Given the description of an element on the screen output the (x, y) to click on. 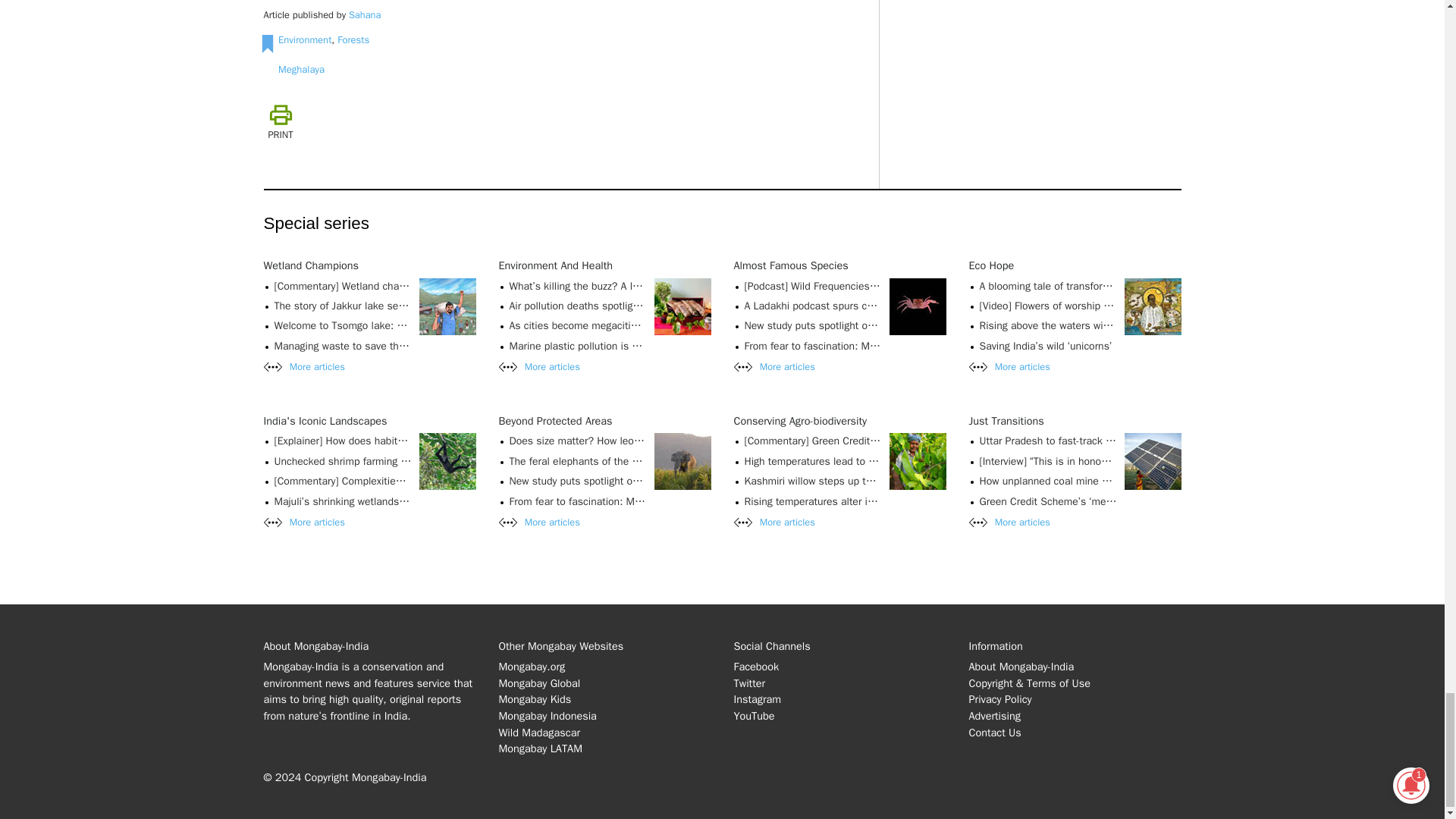
Meghalaya (301, 69)
Posts by Sahana (364, 15)
Environment (304, 39)
Forests (353, 39)
Sahana (364, 15)
